Given the description of an element on the screen output the (x, y) to click on. 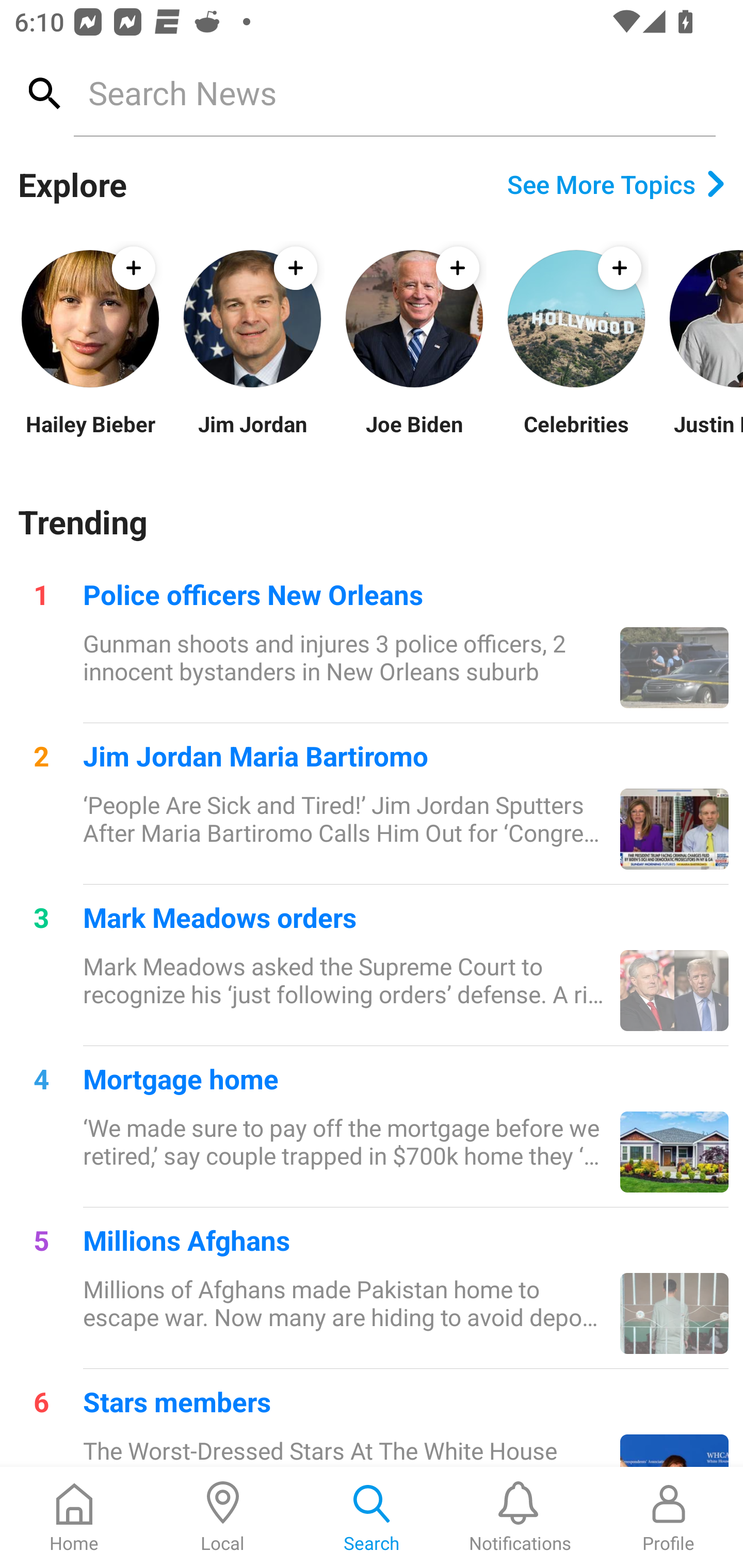
Search News (394, 92)
See More Topics (616, 183)
Hailey Bieber (89, 436)
Jim Jordan (251, 436)
Joe Biden (413, 436)
Celebrities (575, 436)
Home (74, 1517)
Local (222, 1517)
Notifications (519, 1517)
Profile (668, 1517)
